Given the description of an element on the screen output the (x, y) to click on. 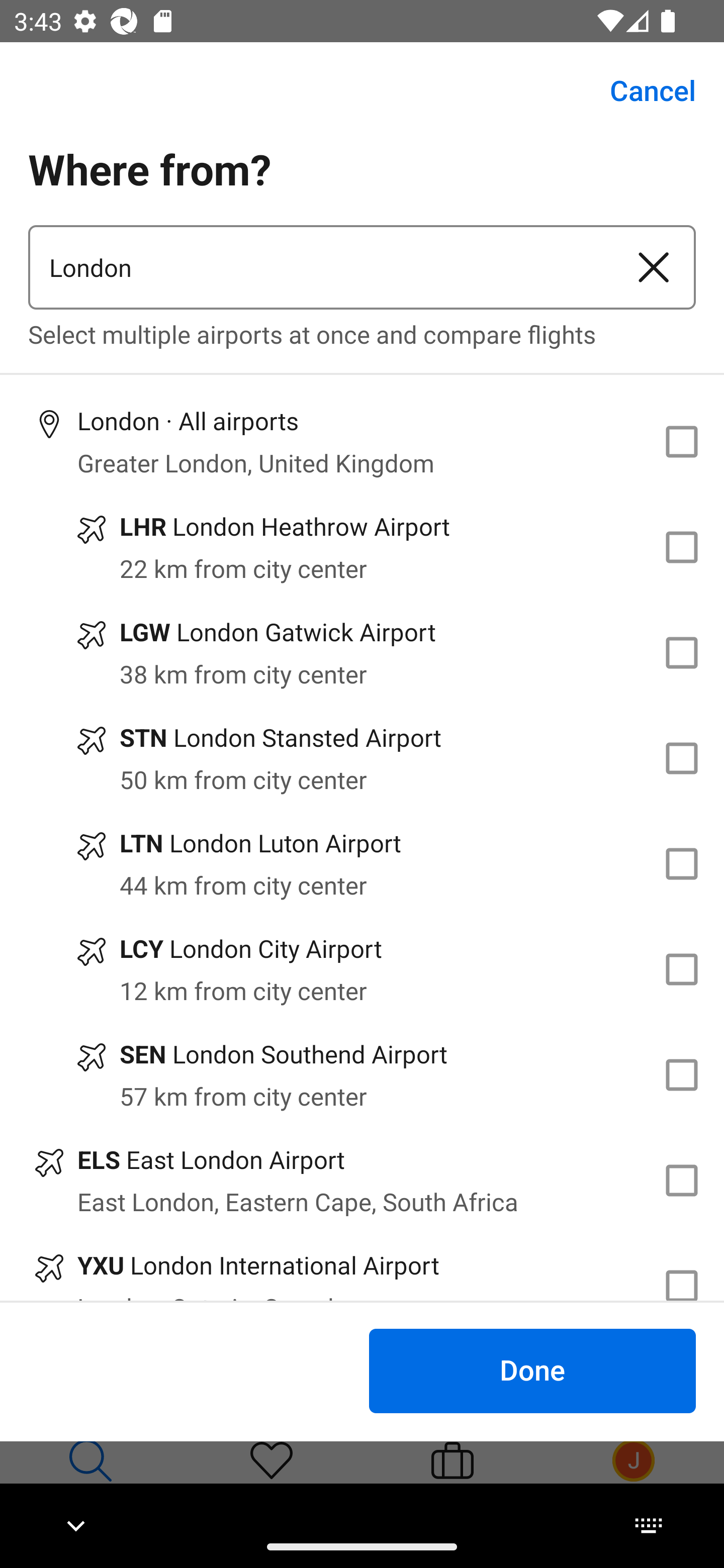
Cancel (641, 90)
London (319, 266)
Clear airport or city (653, 266)
LHR London Heathrow Airport 22 km from city center (362, 547)
LGW London Gatwick Airport 38 km from city center (362, 652)
STN London Stansted Airport 50 km from city center (362, 757)
LTN London Luton Airport 44 km from city center (362, 863)
LCY London City Airport 12 km from city center (362, 969)
SEN London Southend Airport 57 km from city center (362, 1074)
Done (532, 1370)
